Given the description of an element on the screen output the (x, y) to click on. 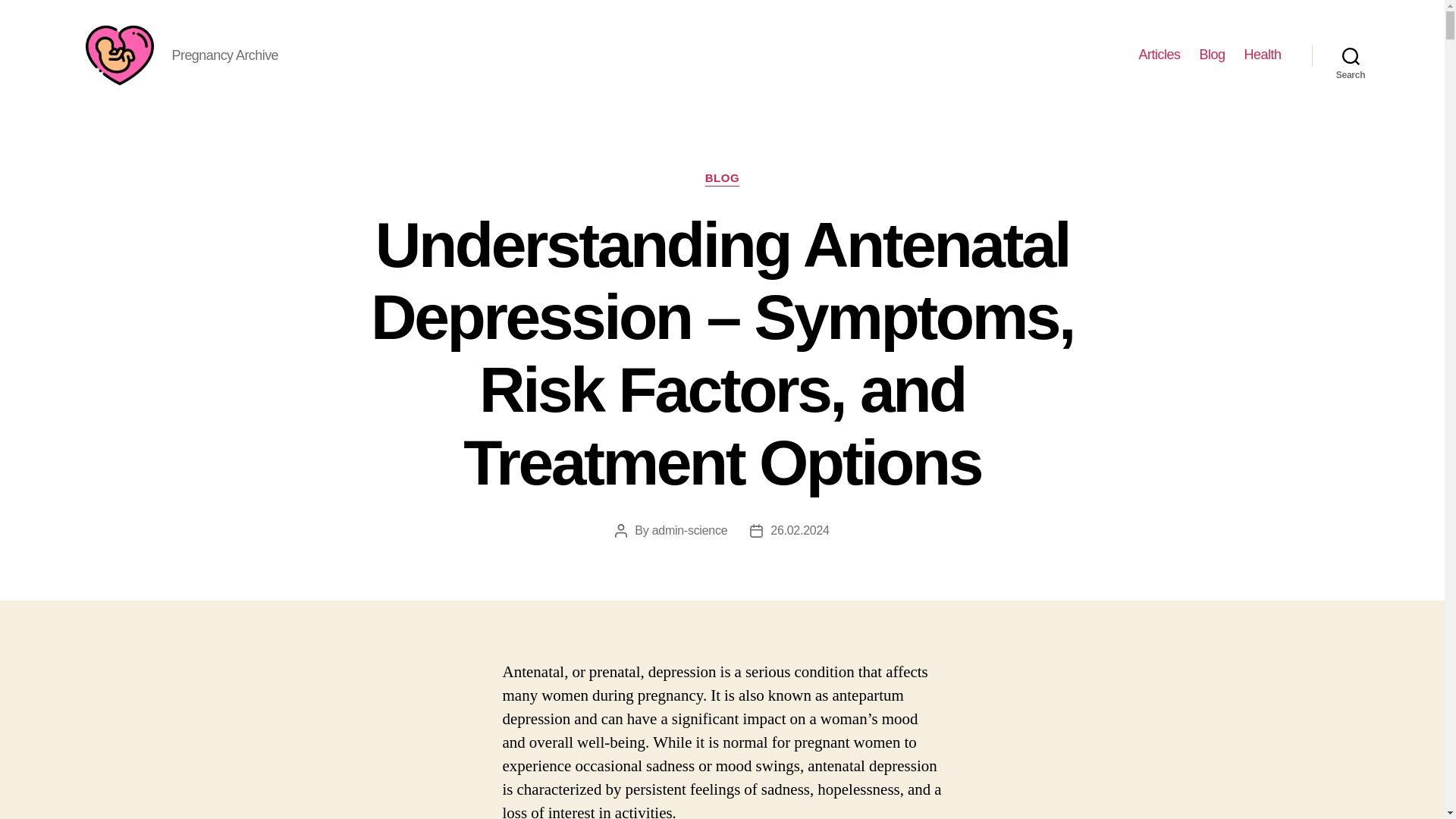
Blog (1211, 54)
admin-science (690, 530)
Health (1262, 54)
Search (1350, 55)
BLOG (721, 178)
26.02.2024 (799, 530)
Articles (1158, 54)
